Given the description of an element on the screen output the (x, y) to click on. 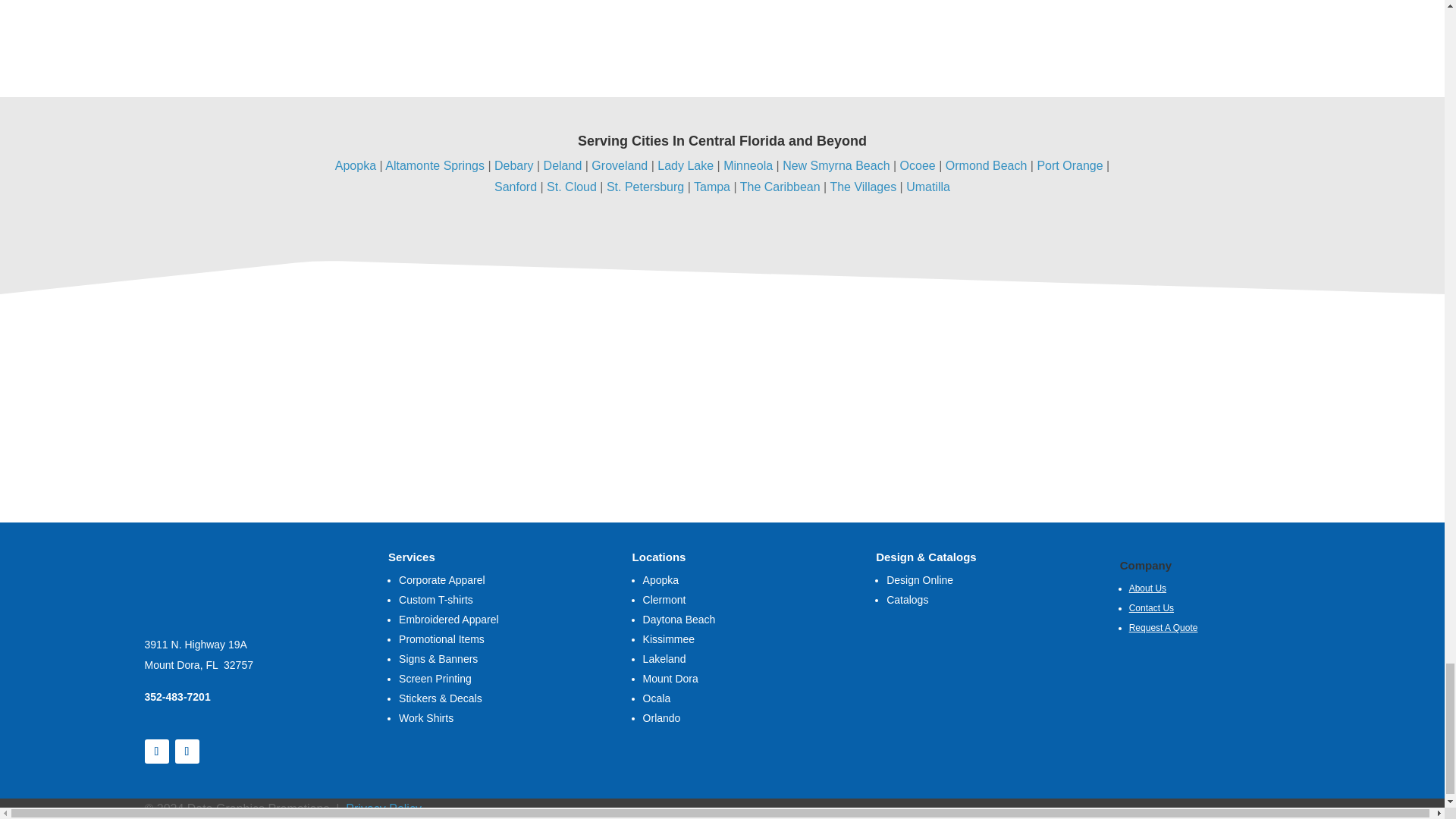
badger (1192, 389)
Follow on Youtube (186, 751)
gildan (208, 383)
nike (684, 389)
pc (955, 389)
Follow on Facebook (156, 751)
logo-web (234, 576)
